Given the description of an element on the screen output the (x, y) to click on. 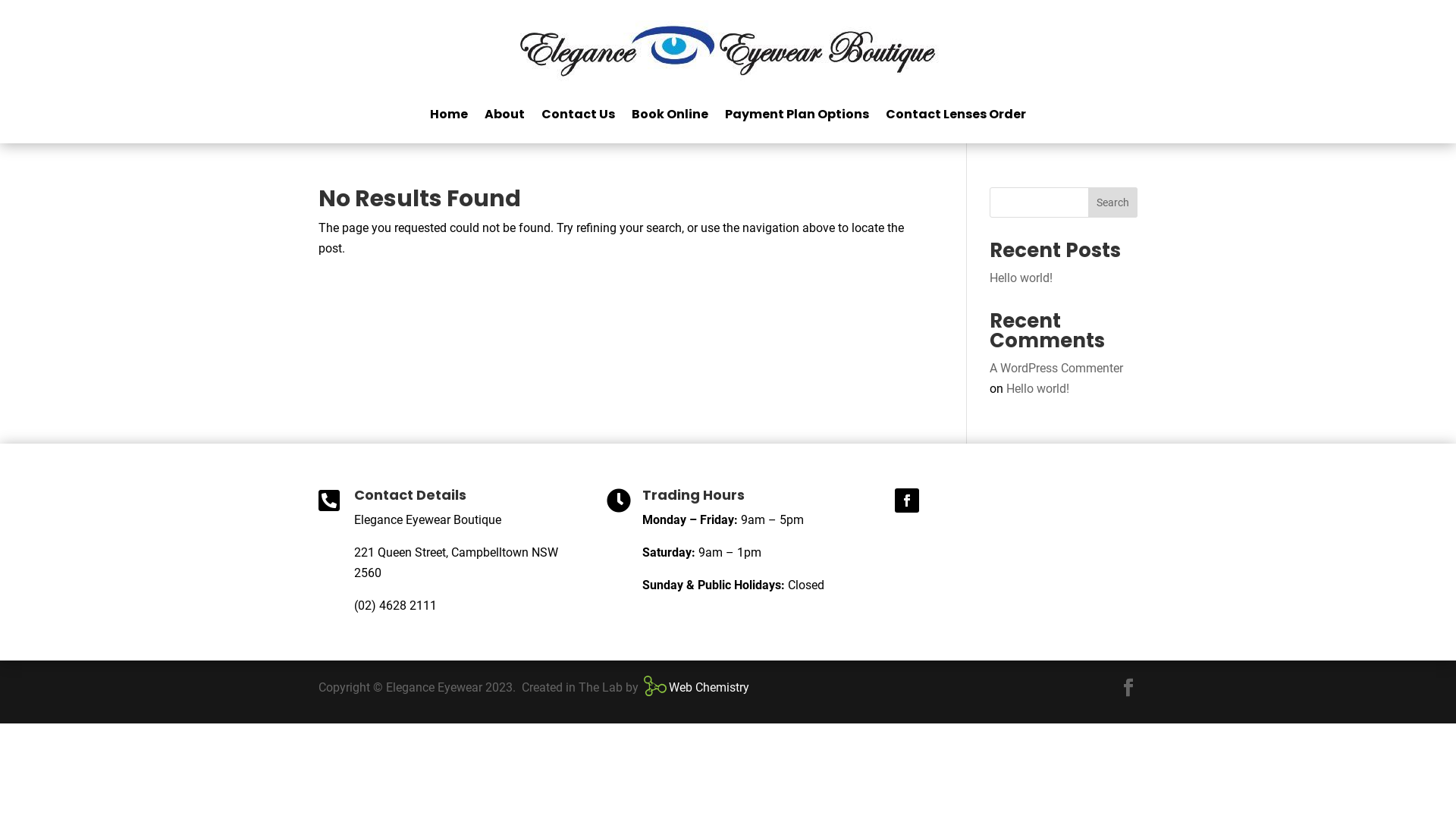
Book Online Element type: text (669, 114)
Hello world! Element type: text (1037, 388)
Contact Us Element type: text (578, 114)
Hello world! Element type: text (1020, 277)
Follow on Facebook Element type: hover (906, 500)
Search Element type: text (1112, 202)
Home Element type: text (448, 114)
Web Chemistry Element type: text (693, 690)
About Element type: text (504, 114)
A WordPress Commenter Element type: text (1056, 367)
Contact Lenses Order Element type: text (955, 114)
Payment Plan Options Element type: text (796, 114)
